Given the description of an element on the screen output the (x, y) to click on. 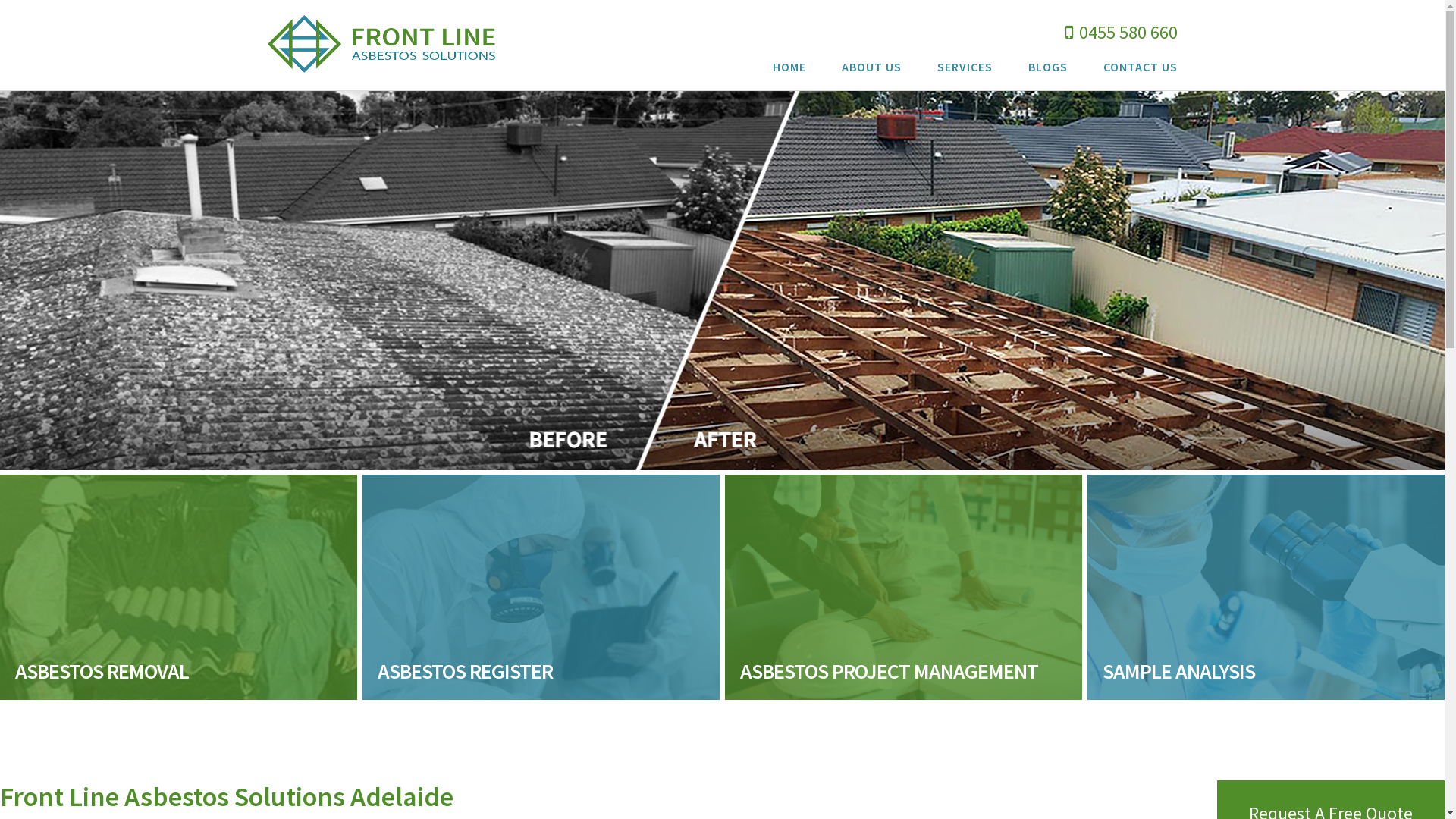
SAMPLE ANALYSIS Element type: text (1265, 586)
BLOGS Element type: text (1047, 69)
ASBESTOS PROJECT MANAGEMENT Element type: text (903, 586)
SERVICES Element type: text (964, 69)
CONTACT US Element type: text (1139, 69)
ASBESTOS REGISTER Element type: text (540, 586)
0455 580 660 Element type: text (1120, 31)
ASBESTOS REMOVAL Element type: text (178, 586)
HOME Element type: text (788, 69)
ABOUT US Element type: text (871, 69)
